Given the description of an element on the screen output the (x, y) to click on. 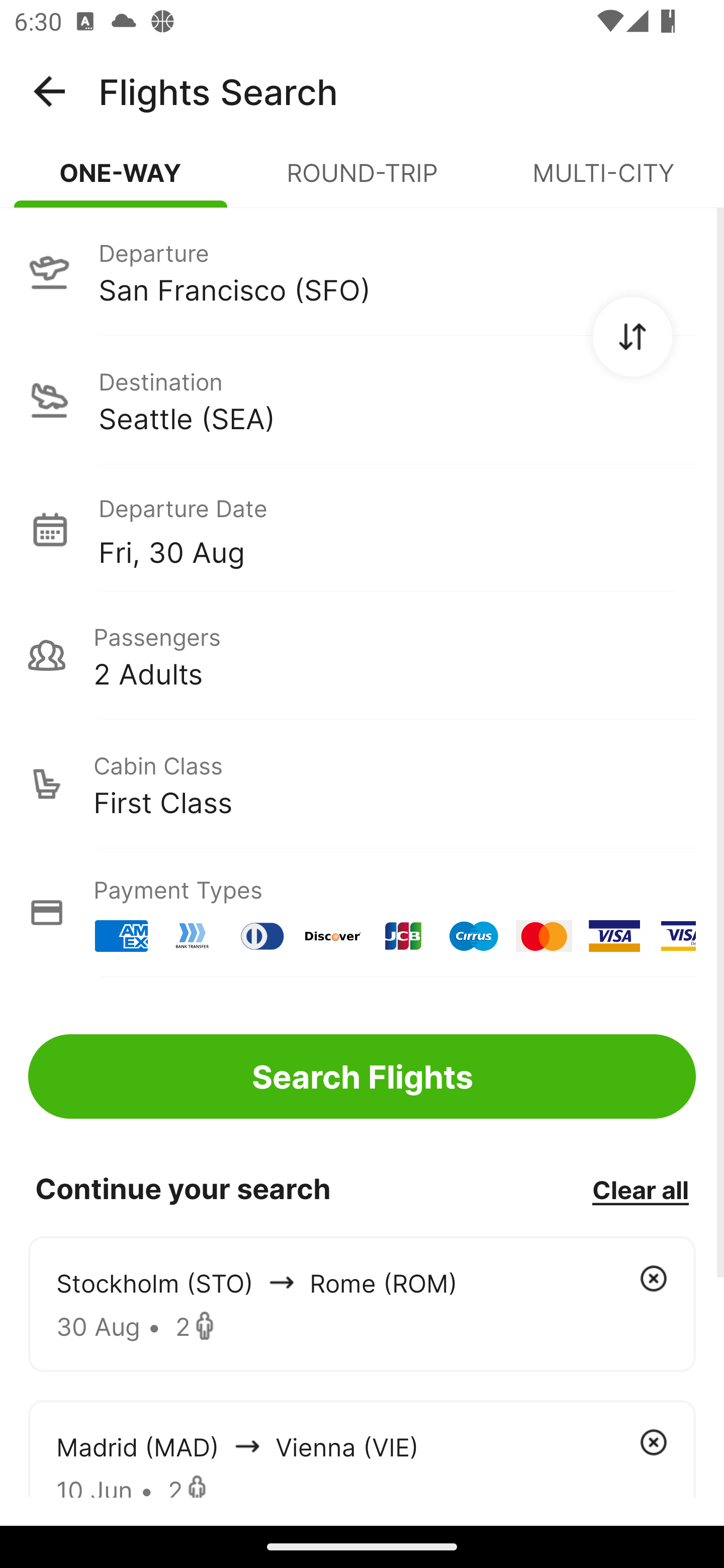
ONE-WAY (120, 180)
ROUND-TRIP (361, 180)
MULTI-CITY (603, 180)
Departure San Francisco (SFO) (362, 270)
Destination Seattle (SEA) (362, 400)
Departure Date Fri, 30 Aug (396, 528)
Passengers 2 Adults (362, 655)
Cabin Class First Class (362, 783)
Payment Types (362, 912)
Search Flights (361, 1075)
Clear all (640, 1189)
Madrid (MAD)  arrowIcon  Vienna (VIE) 10 Jun •  2  (361, 1448)
